Given the description of an element on the screen output the (x, y) to click on. 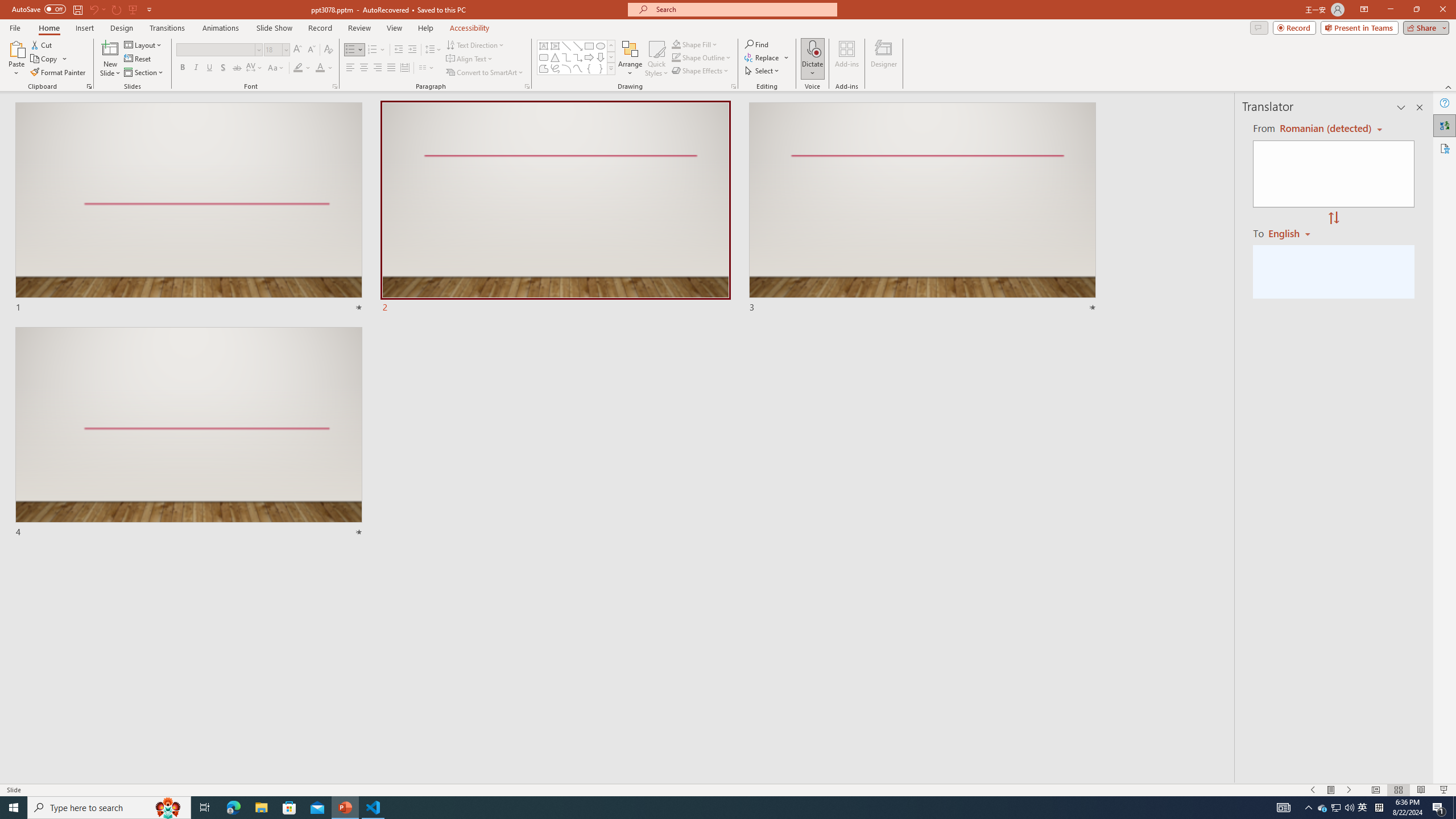
Swap "from" and "to" languages. (1333, 218)
